Given the description of an element on the screen output the (x, y) to click on. 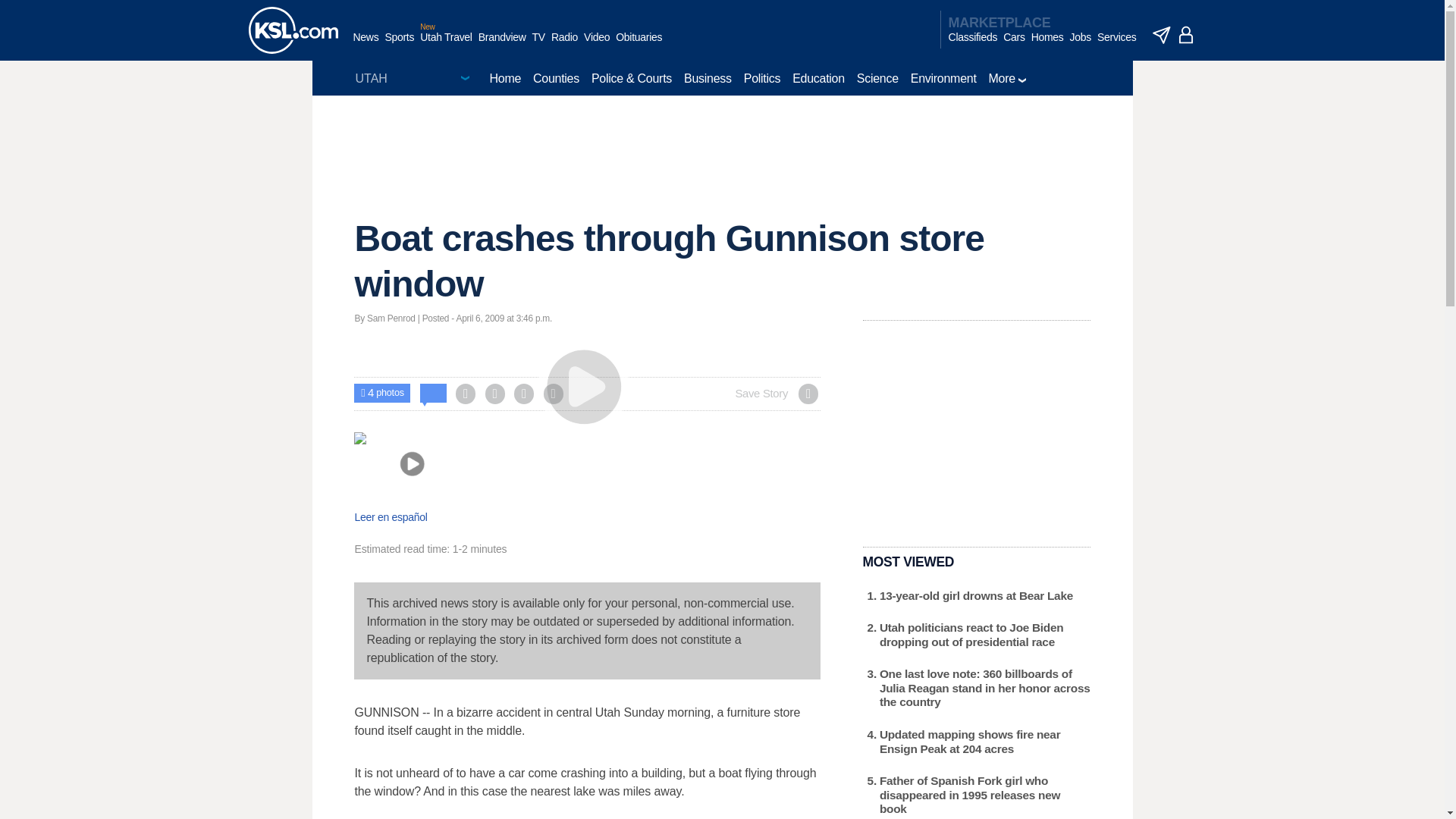
KSL homepage (292, 30)
TV (538, 45)
Sports (398, 45)
Brandview (502, 45)
Utah Travel (445, 45)
KSL homepage (292, 29)
account - logged out (1185, 34)
News (365, 45)
